Given the description of an element on the screen output the (x, y) to click on. 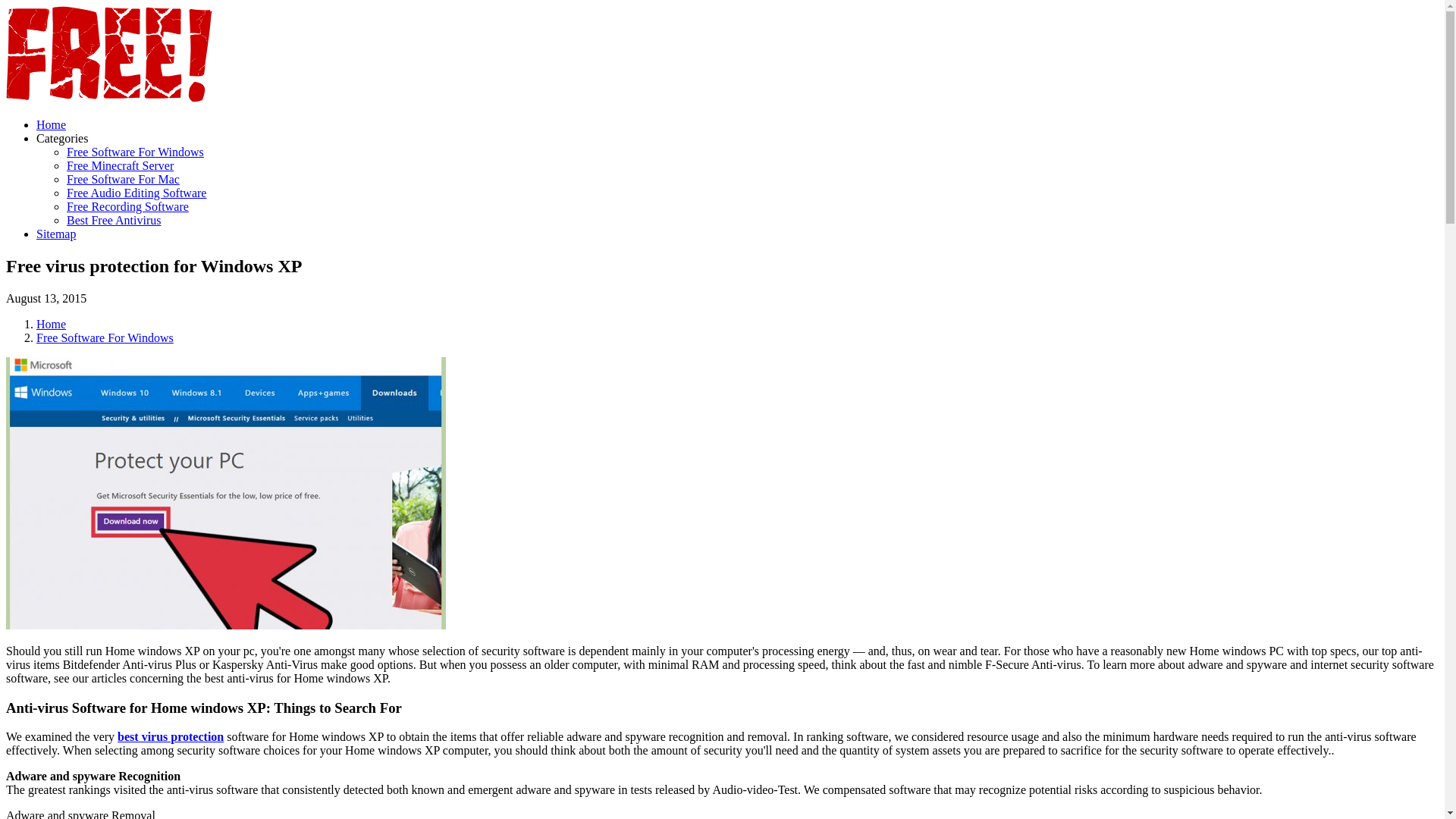
Free Software For Windows (134, 151)
best virus protection (170, 736)
Sitemap (55, 233)
Free Audio Editing Software (136, 192)
Home (50, 124)
Free! (108, 98)
Free Software For Windows (104, 337)
Home (50, 323)
Best virus protection (170, 736)
Free Minecraft Server (119, 164)
